Given the description of an element on the screen output the (x, y) to click on. 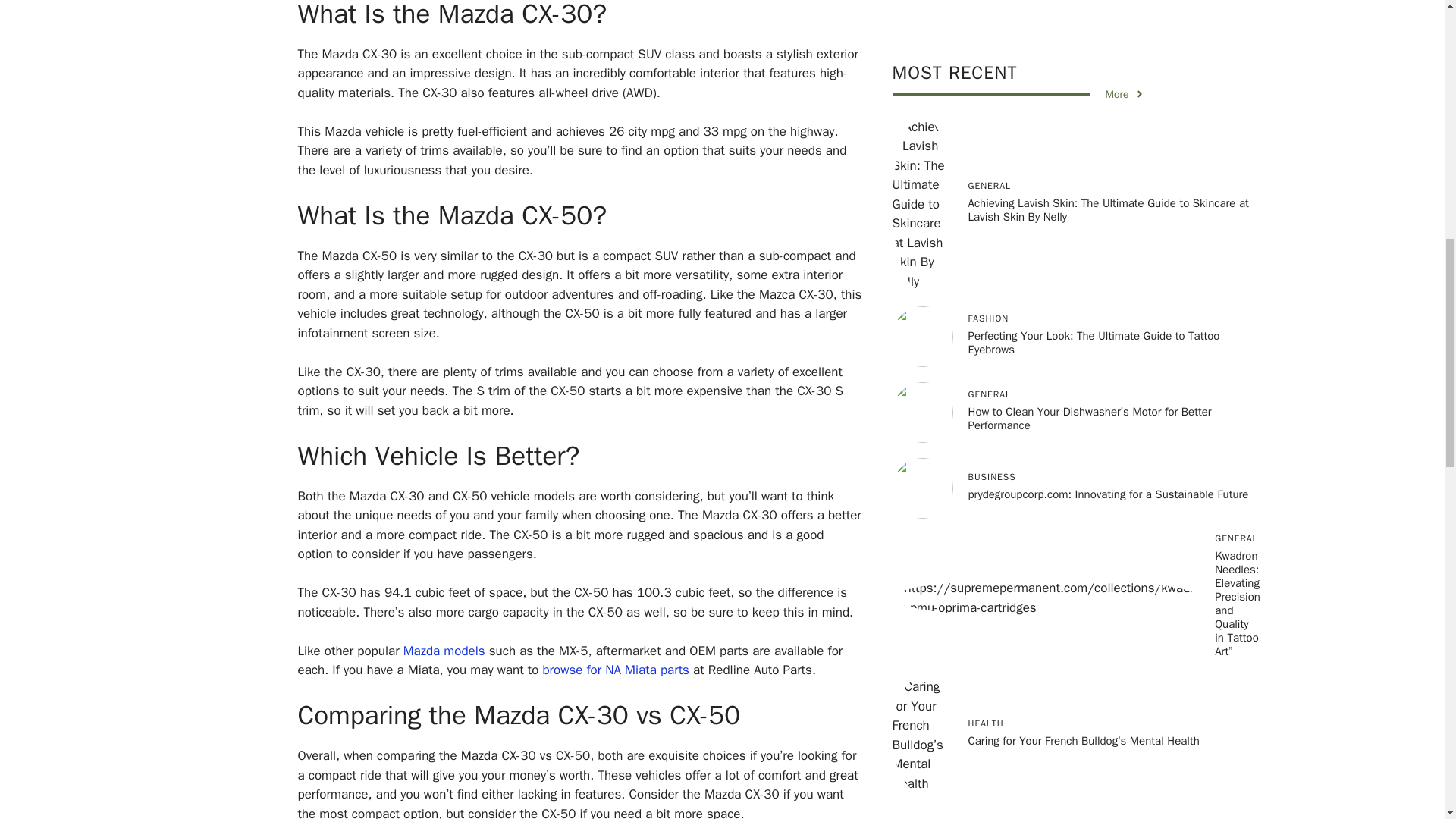
Mazda models (443, 650)
prydegroupcorp.com: Innovating for a Sustainable Future (1107, 84)
browse for NA Miata parts (614, 669)
